Given the description of an element on the screen output the (x, y) to click on. 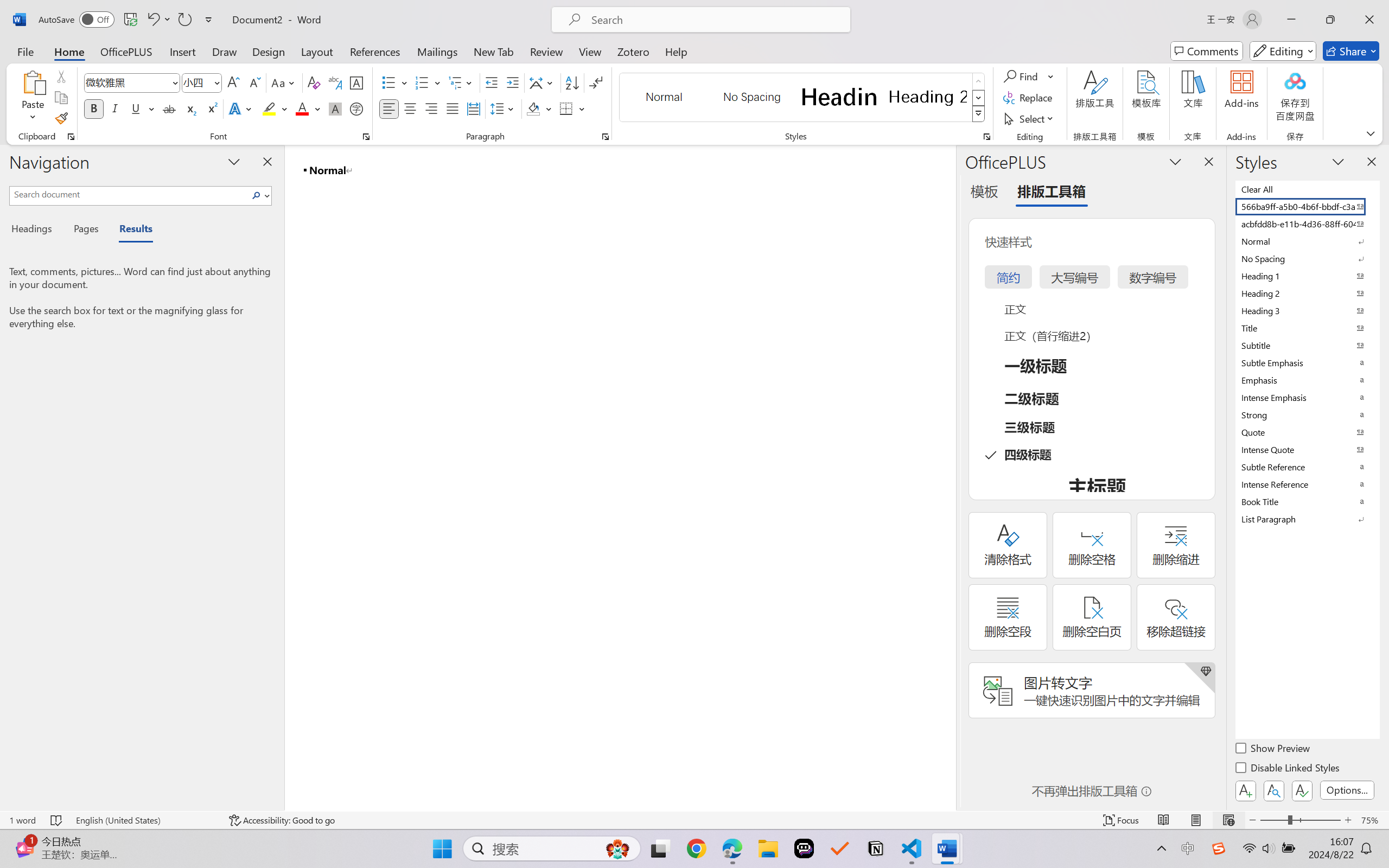
Read Mode (1163, 819)
Zoom In (1348, 819)
Asian Layout (542, 82)
AutoSave (76, 19)
Book Title (1306, 501)
Heading 1 (839, 96)
Numbering (421, 82)
Language English (United States) (144, 819)
Search document (128, 193)
Font Color (308, 108)
Font Color Red (302, 108)
